Given the description of an element on the screen output the (x, y) to click on. 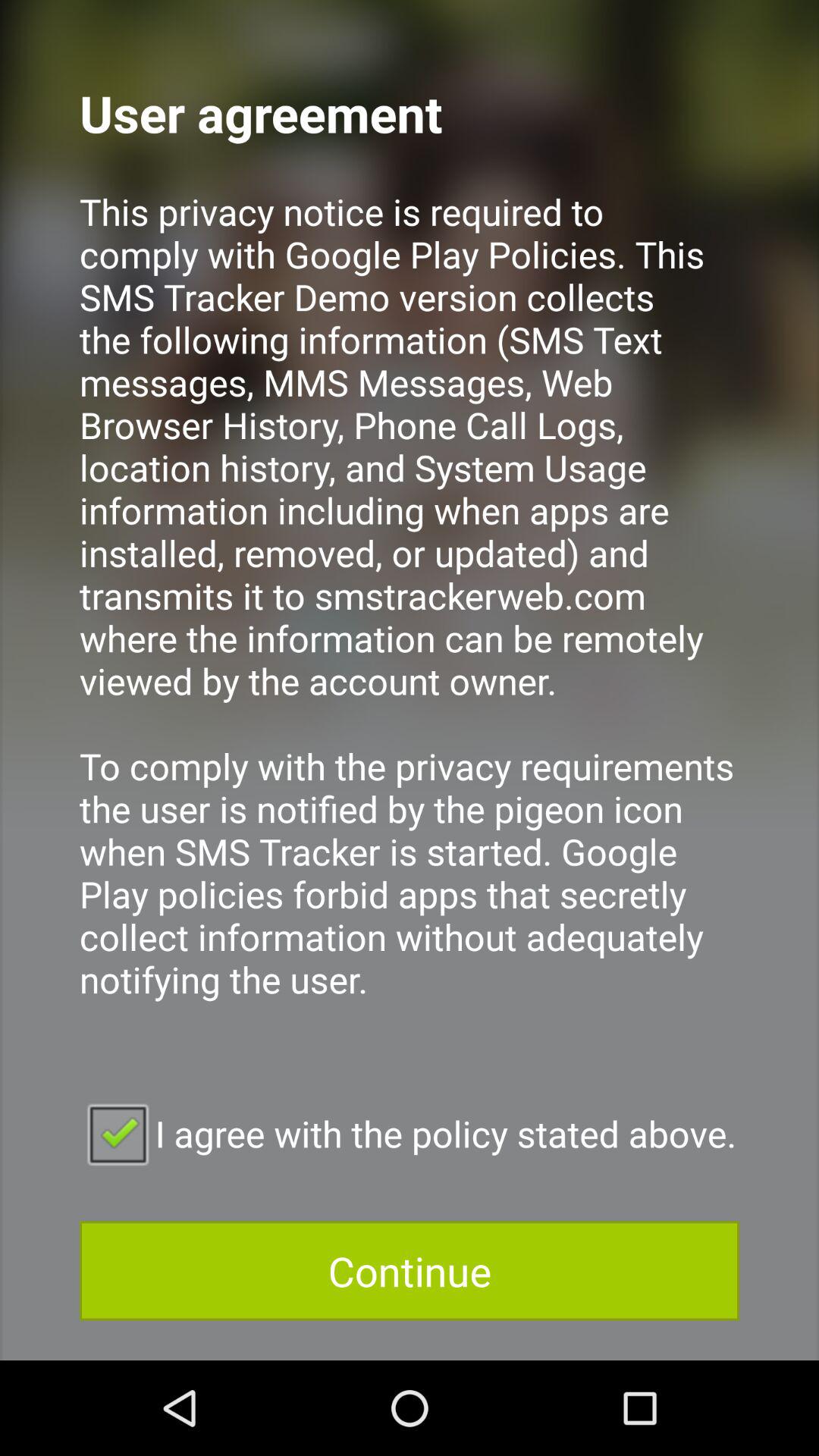
select this privacy notice app (409, 616)
